Given the description of an element on the screen output the (x, y) to click on. 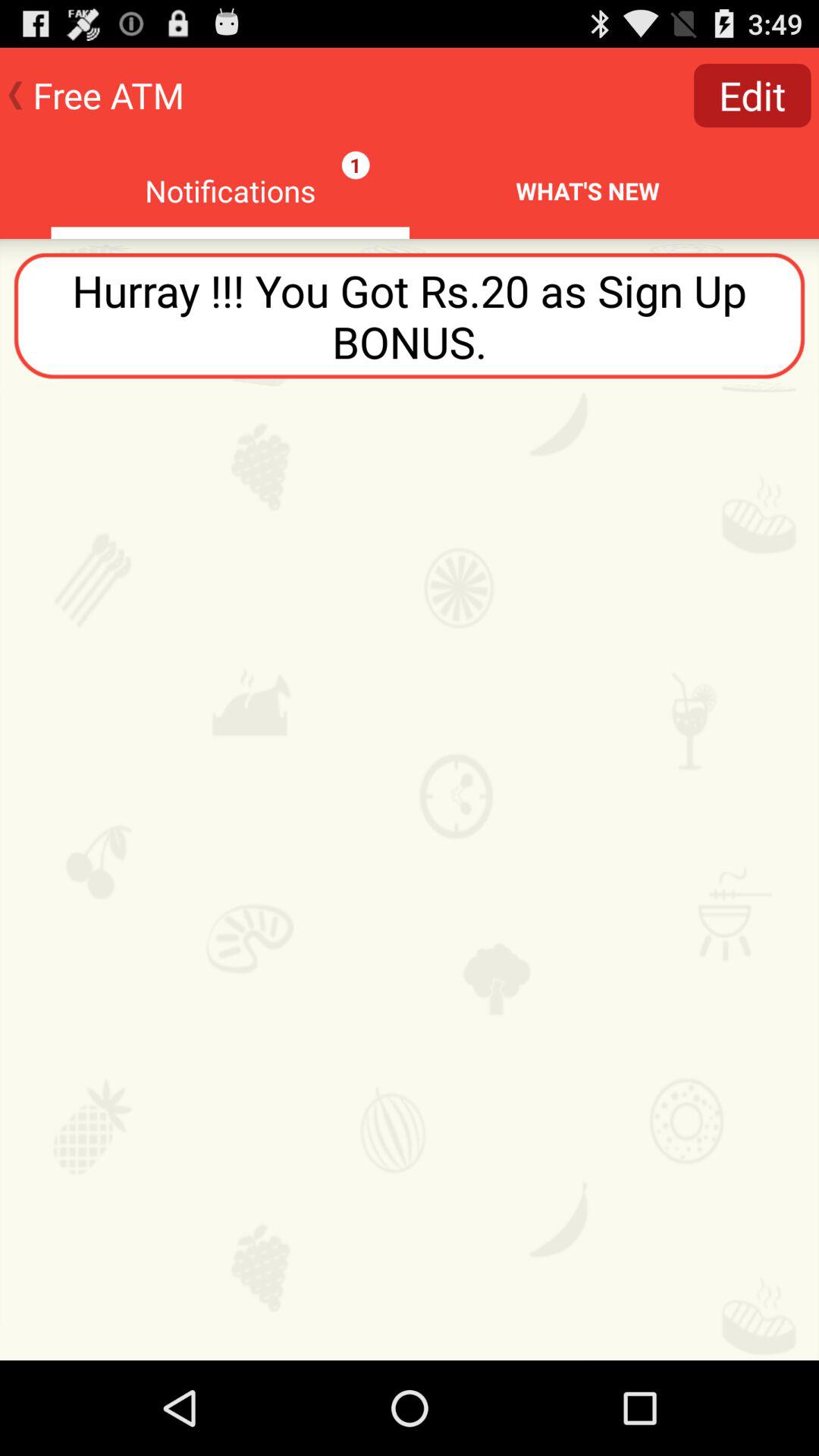
turn on the hurray you got icon (409, 315)
